Given the description of an element on the screen output the (x, y) to click on. 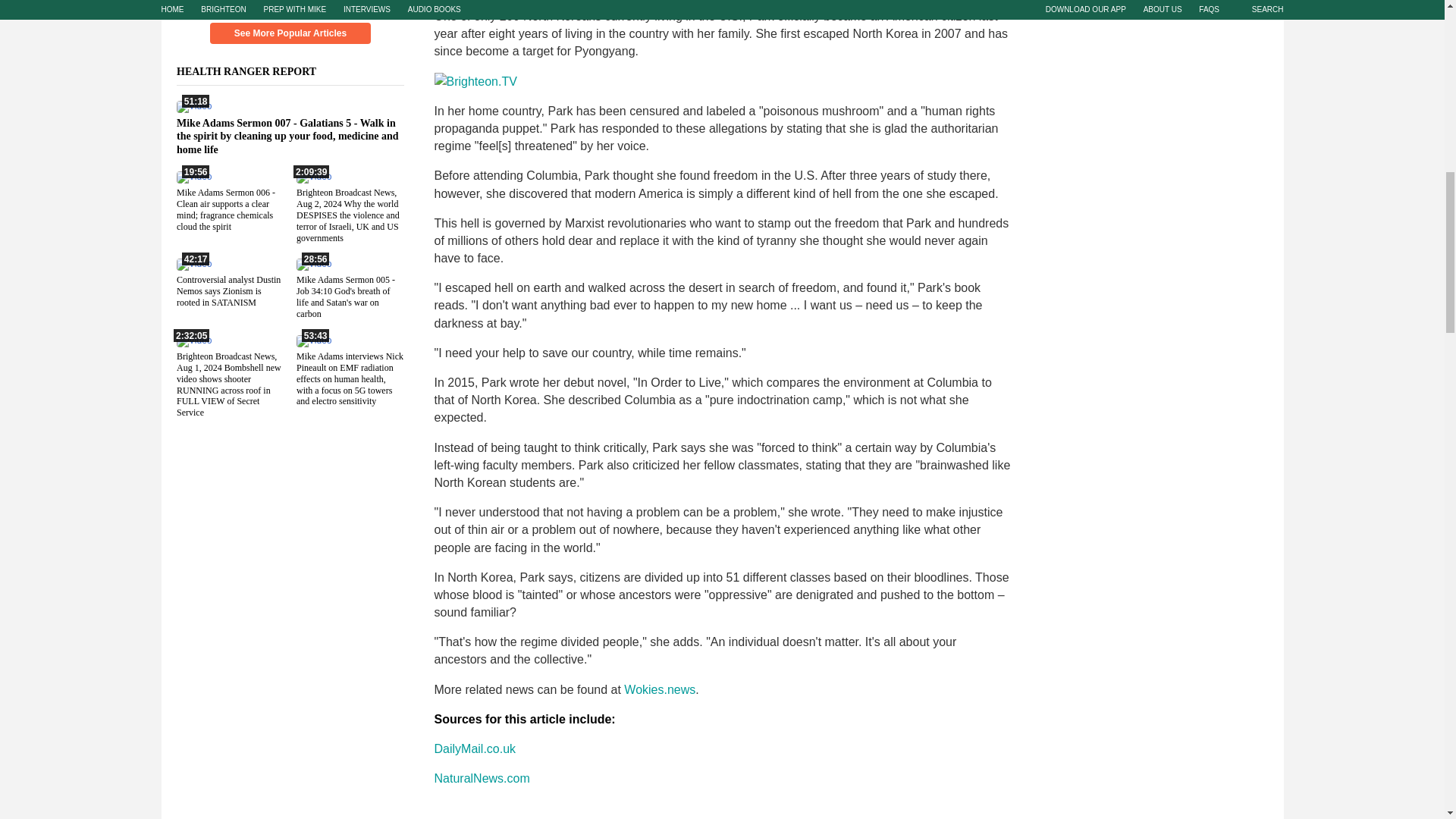
See More Popular Articles (289, 33)
Scroll Down (290, 6)
19:56 (193, 176)
